Given the description of an element on the screen output the (x, y) to click on. 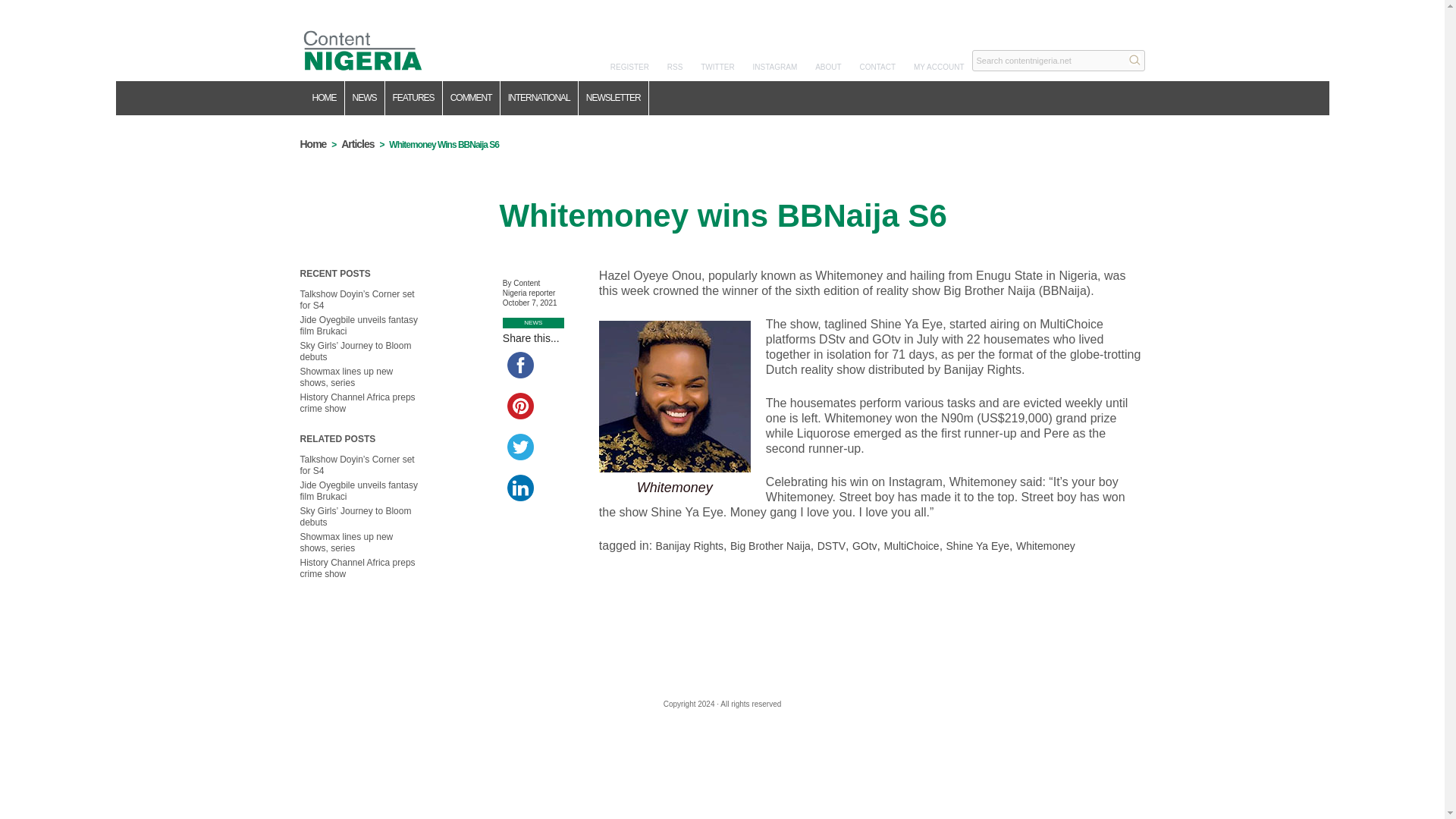
Search (1134, 59)
pinterest (520, 406)
CONTACT (877, 67)
FEATURES (413, 98)
ABOUT (828, 67)
TWITTER (717, 67)
INSTAGRAM (775, 67)
Search (1134, 59)
History Channel Africa preps crime show (356, 568)
Whitemoney (1045, 545)
